Given the description of an element on the screen output the (x, y) to click on. 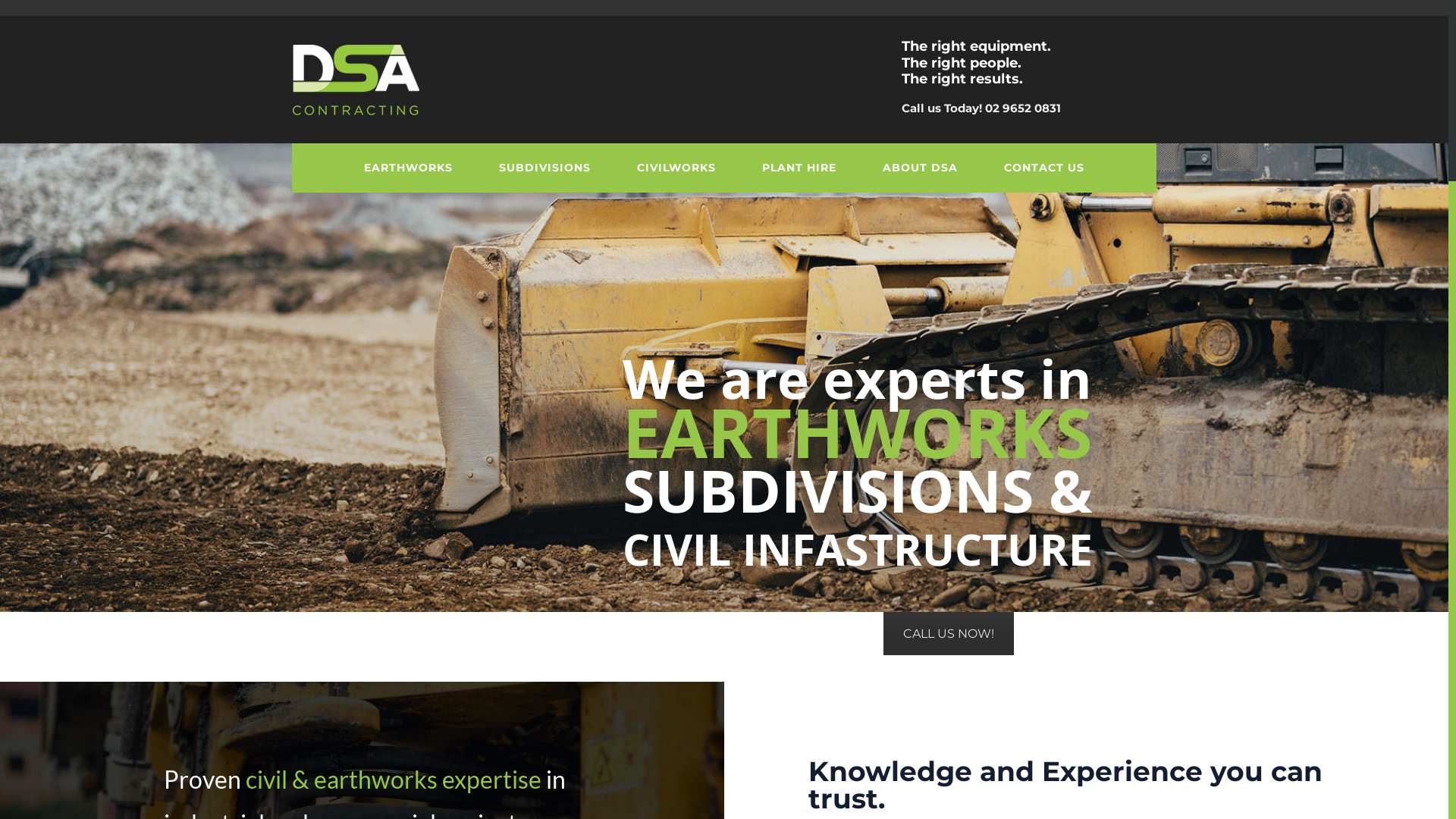
SUBDIVISIONS Element type: text (545, 167)
EARTHWORKS Element type: text (408, 167)
ABOUT DSA Element type: text (920, 167)
CALL US NOW! Element type: text (948, 633)
CONTACT US Element type: text (1044, 167)
PLANT HIRE Element type: text (798, 167)
02 9652 0831 Element type: text (1022, 107)
CIVILWORKS Element type: text (676, 167)
